Given the description of an element on the screen output the (x, y) to click on. 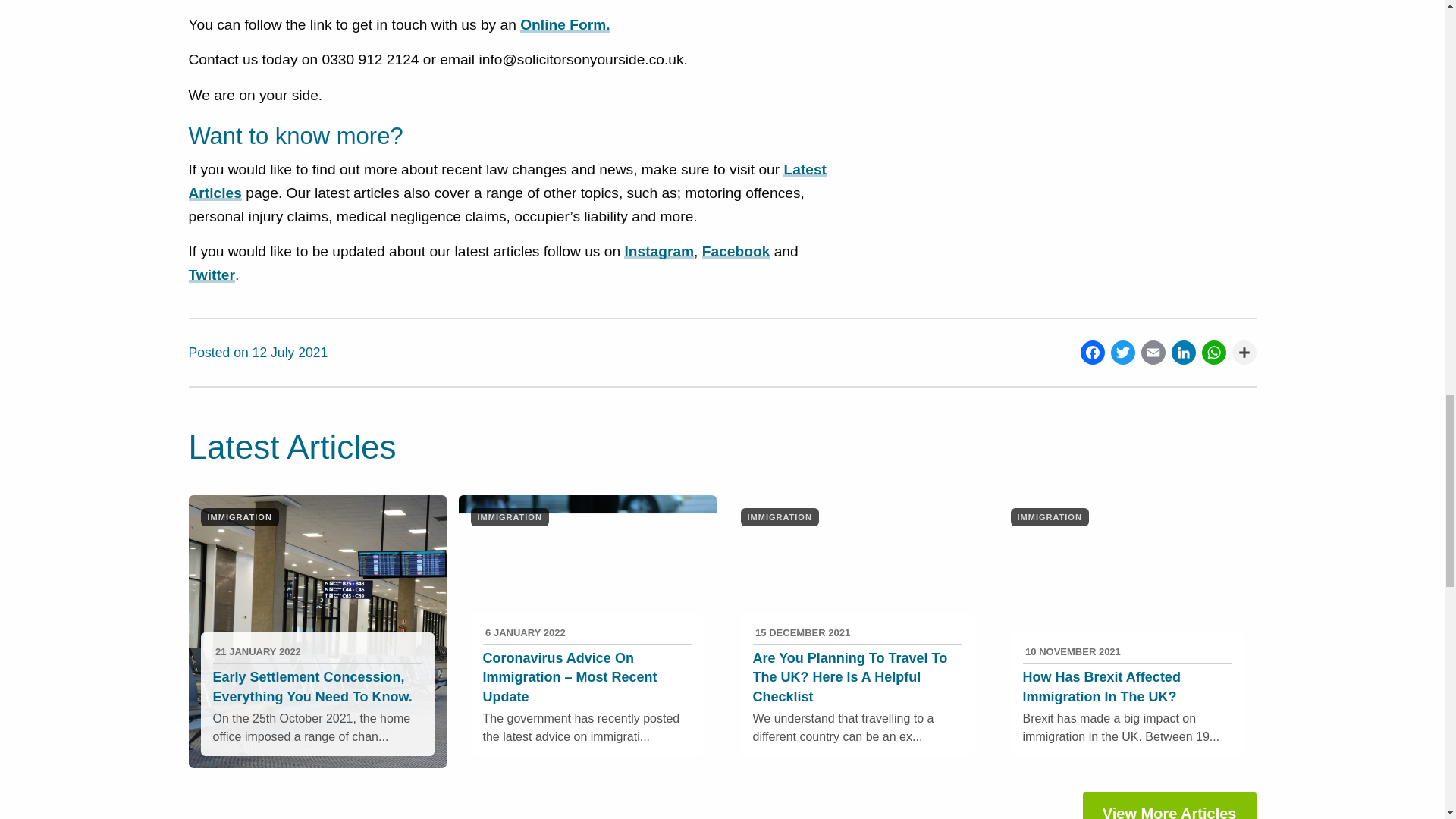
LinkedIn (1179, 352)
WhatsApp (1210, 352)
Email (1149, 352)
Facebook (1088, 352)
Twitter (1118, 352)
